Given the description of an element on the screen output the (x, y) to click on. 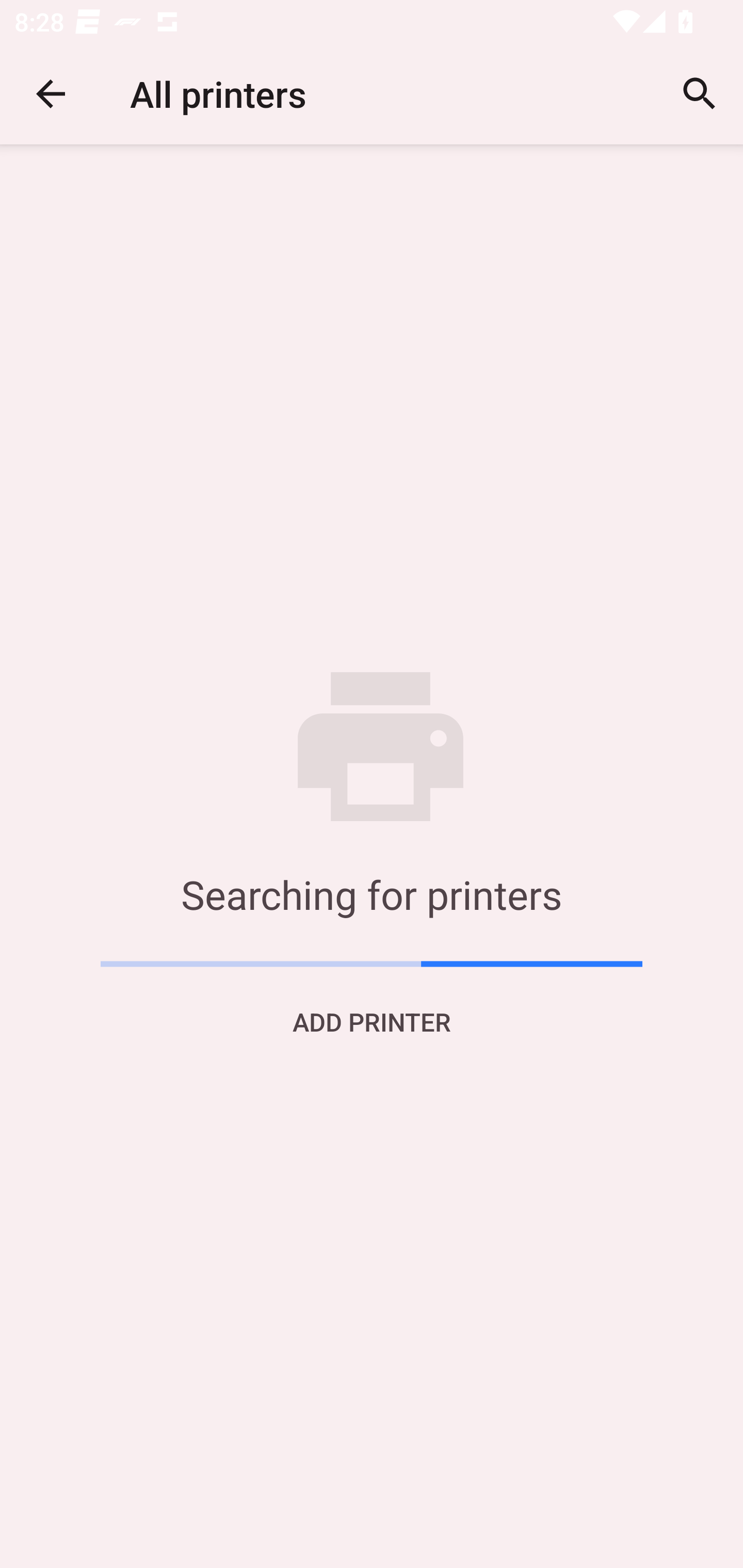
Navigate up (50, 93)
Search (699, 93)
ADD PRINTER (371, 1021)
